Given the description of an element on the screen output the (x, y) to click on. 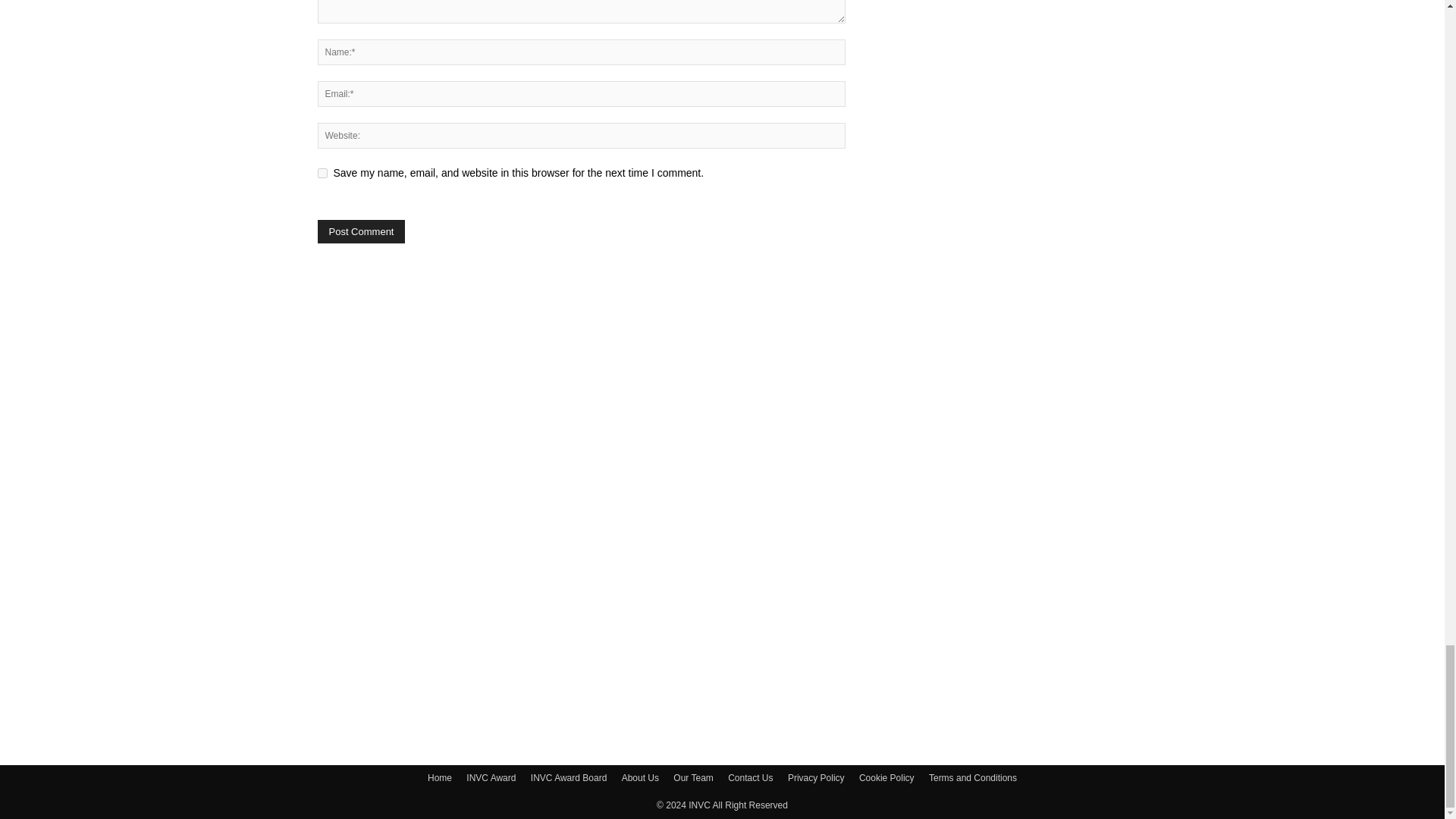
yes (321, 173)
Post Comment (360, 231)
